Given the description of an element on the screen output the (x, y) to click on. 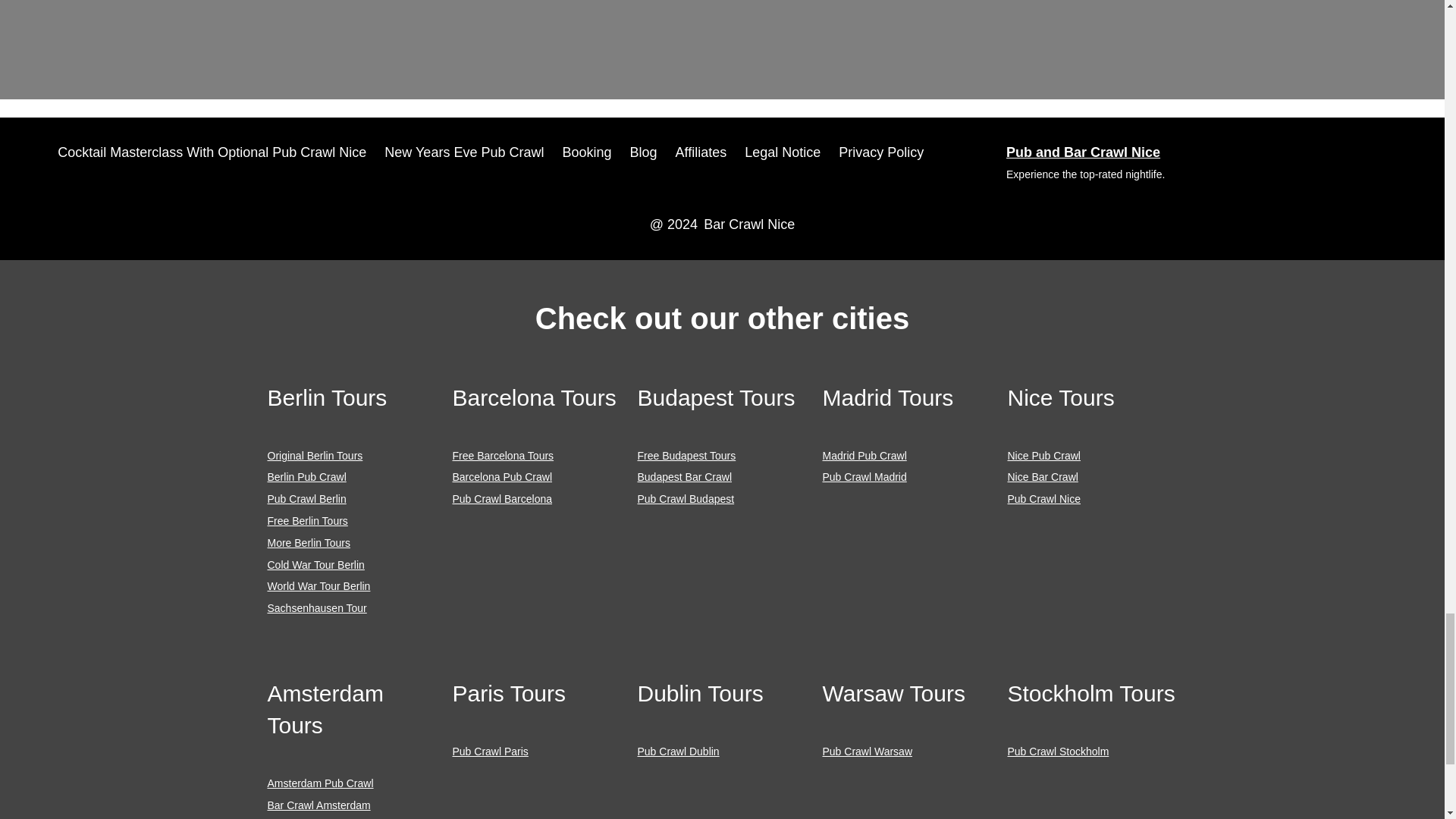
Booking (586, 152)
Cocktail Masterclass With Optional Pub Crawl Nice (212, 152)
More Berlin Tours (307, 542)
Legal Notice (782, 152)
Pub Crawl Berlin (306, 499)
Original Berlin Tours (314, 455)
Blog (642, 152)
Free Berlin Tours (306, 521)
Pub and Bar Crawl Nice (1083, 151)
Berlin Pub Crawl (306, 476)
